Given the description of an element on the screen output the (x, y) to click on. 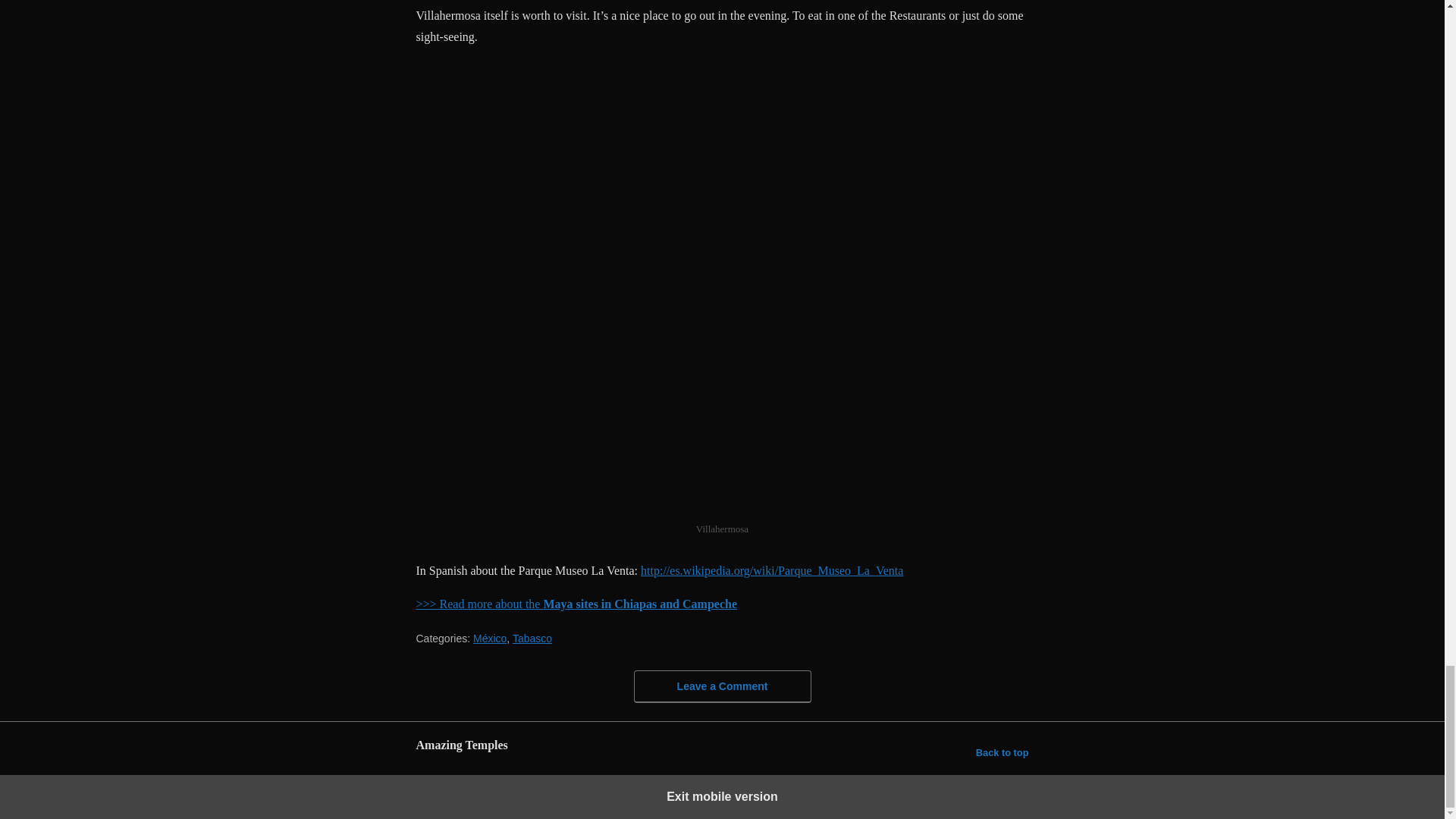
Maya sites in Chiapas and Campeche (639, 603)
Leave a Comment (721, 686)
d more about the  (500, 603)
Tabasco (531, 638)
Back to top (1002, 752)
